Given the description of an element on the screen output the (x, y) to click on. 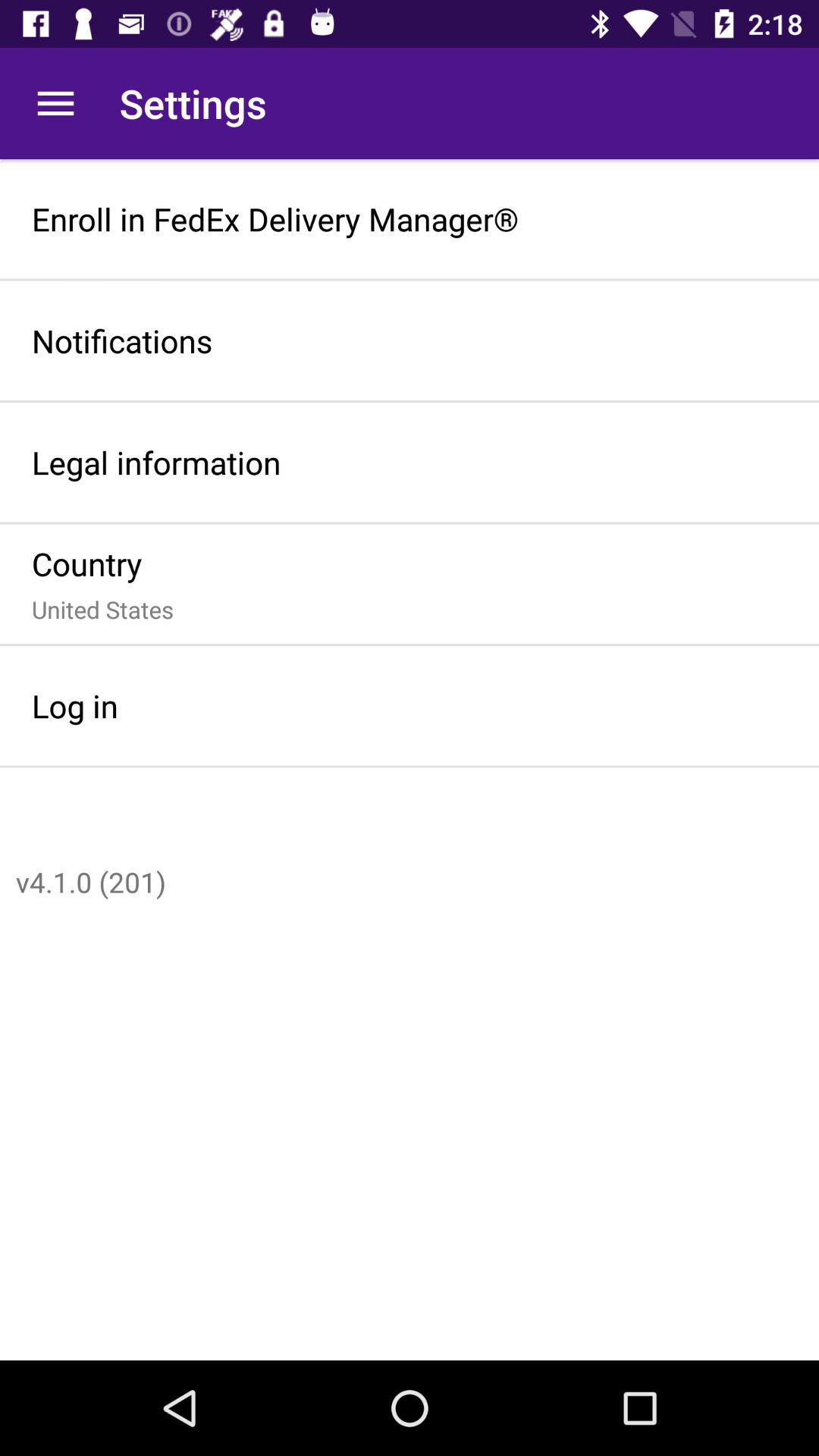
turn on the app next to the settings (55, 103)
